Given the description of an element on the screen output the (x, y) to click on. 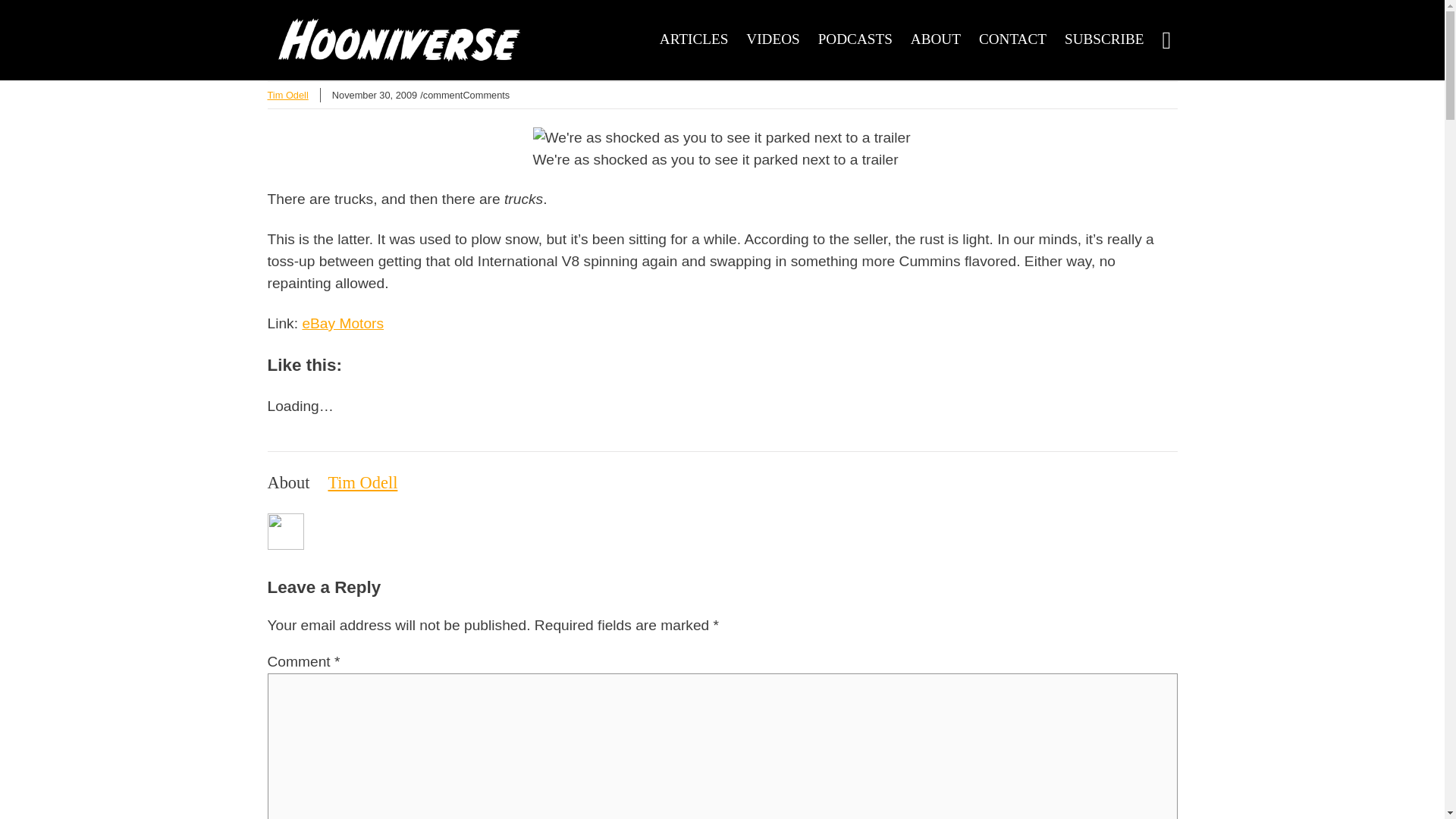
SUBSCRIBE (1104, 39)
VIDEOS (772, 39)
Tim Odell (286, 94)
PODCASTS (855, 39)
ARTICLES (694, 39)
eBay Motors (342, 323)
CONTACT (1012, 39)
ABOUT (935, 39)
Tim Odell (362, 482)
